Given the description of an element on the screen output the (x, y) to click on. 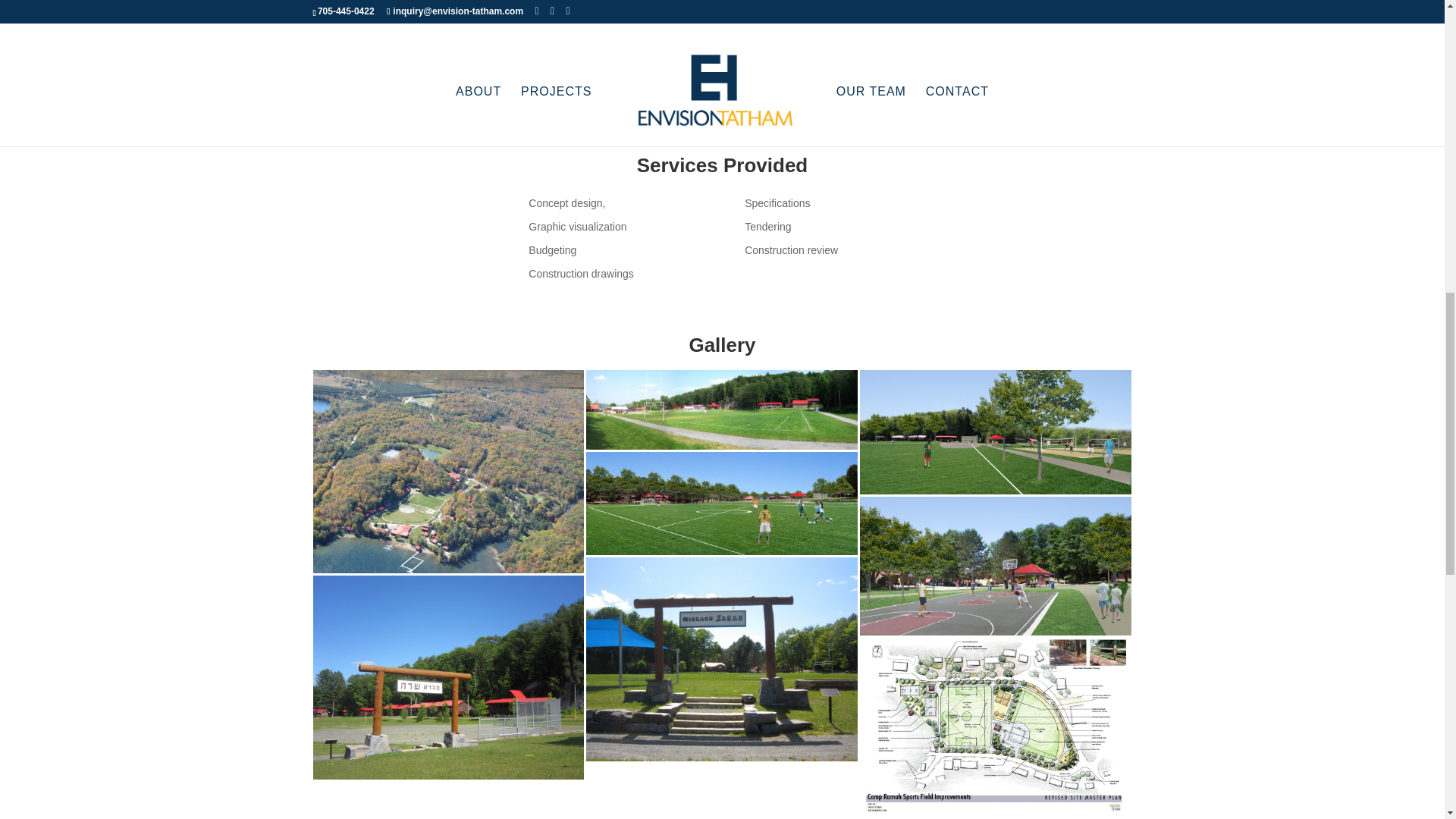
Image 2B Soccer After (721, 504)
Image 3B Basketball After (995, 565)
Image 1B Baseball Volleyball After (995, 432)
Camp Ramah Pano (721, 409)
Camp Ramah Air Photo (448, 471)
